Given the description of an element on the screen output the (x, y) to click on. 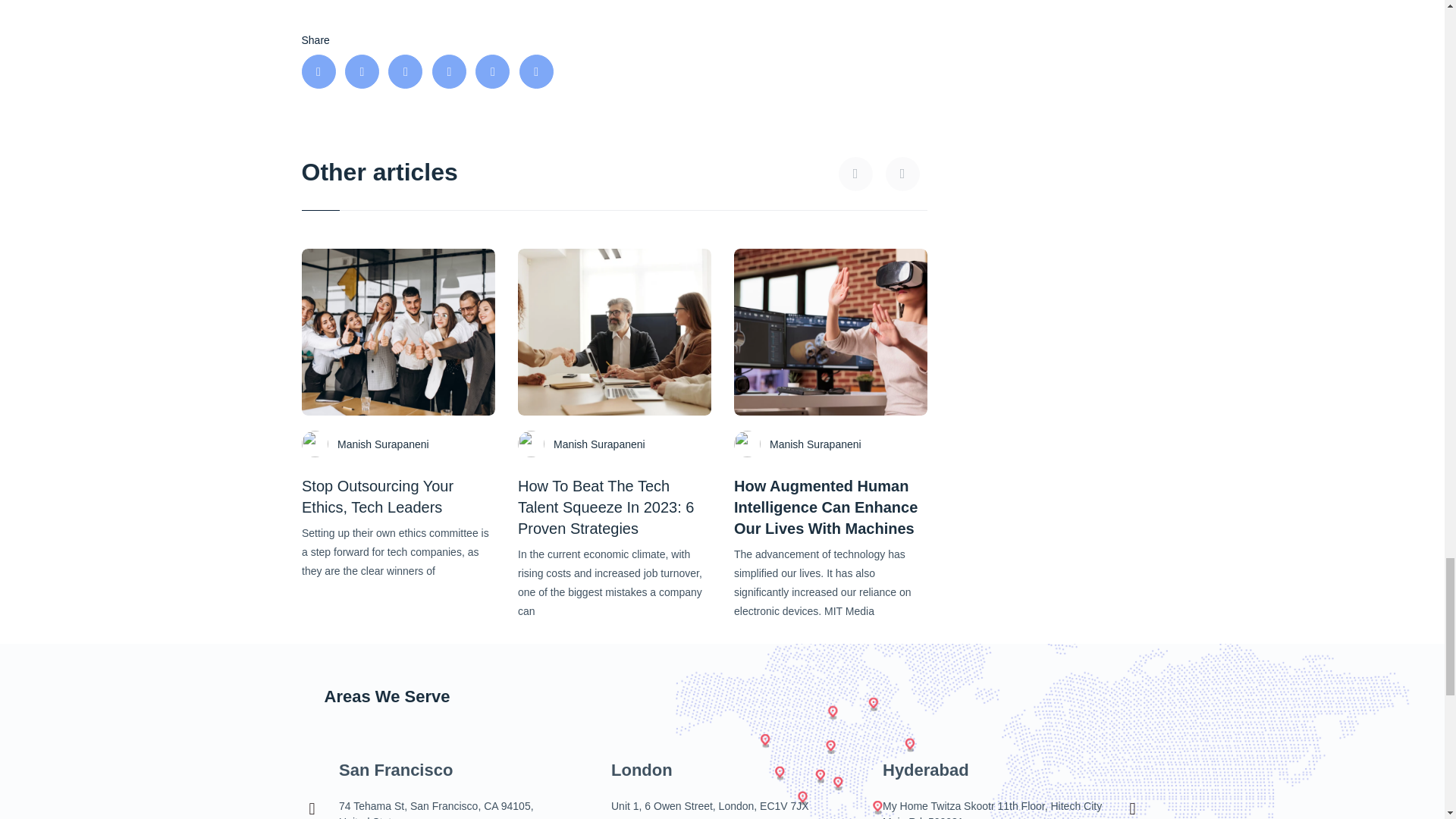
Stop Outsourcing Your Ethics, Tech Leaders (376, 496)
